Given the description of an element on the screen output the (x, y) to click on. 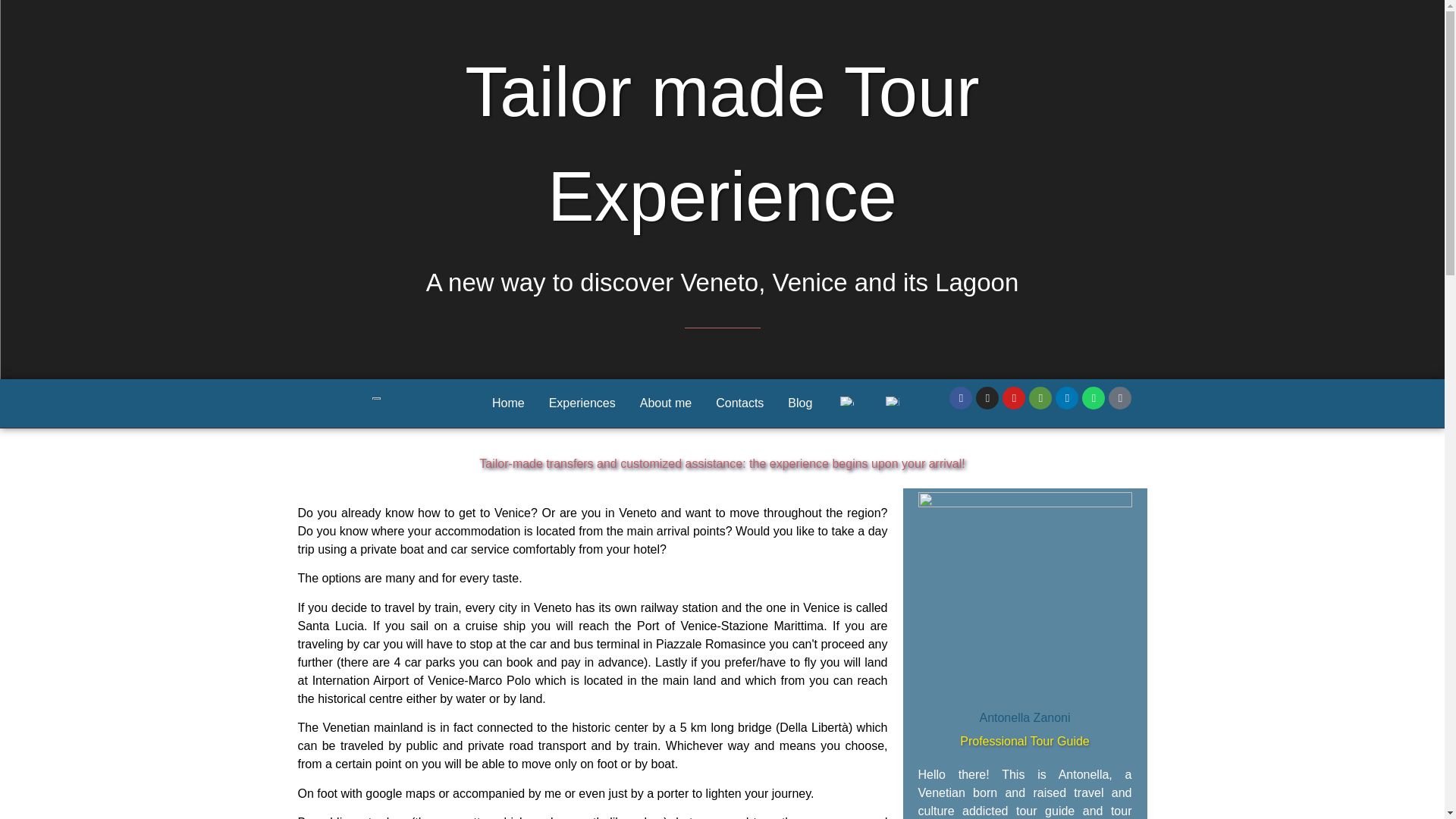
Blog (800, 403)
Italian (892, 400)
Experiences (582, 403)
English (846, 400)
Contacts (739, 403)
Home (508, 403)
About me (665, 403)
